Given the description of an element on the screen output the (x, y) to click on. 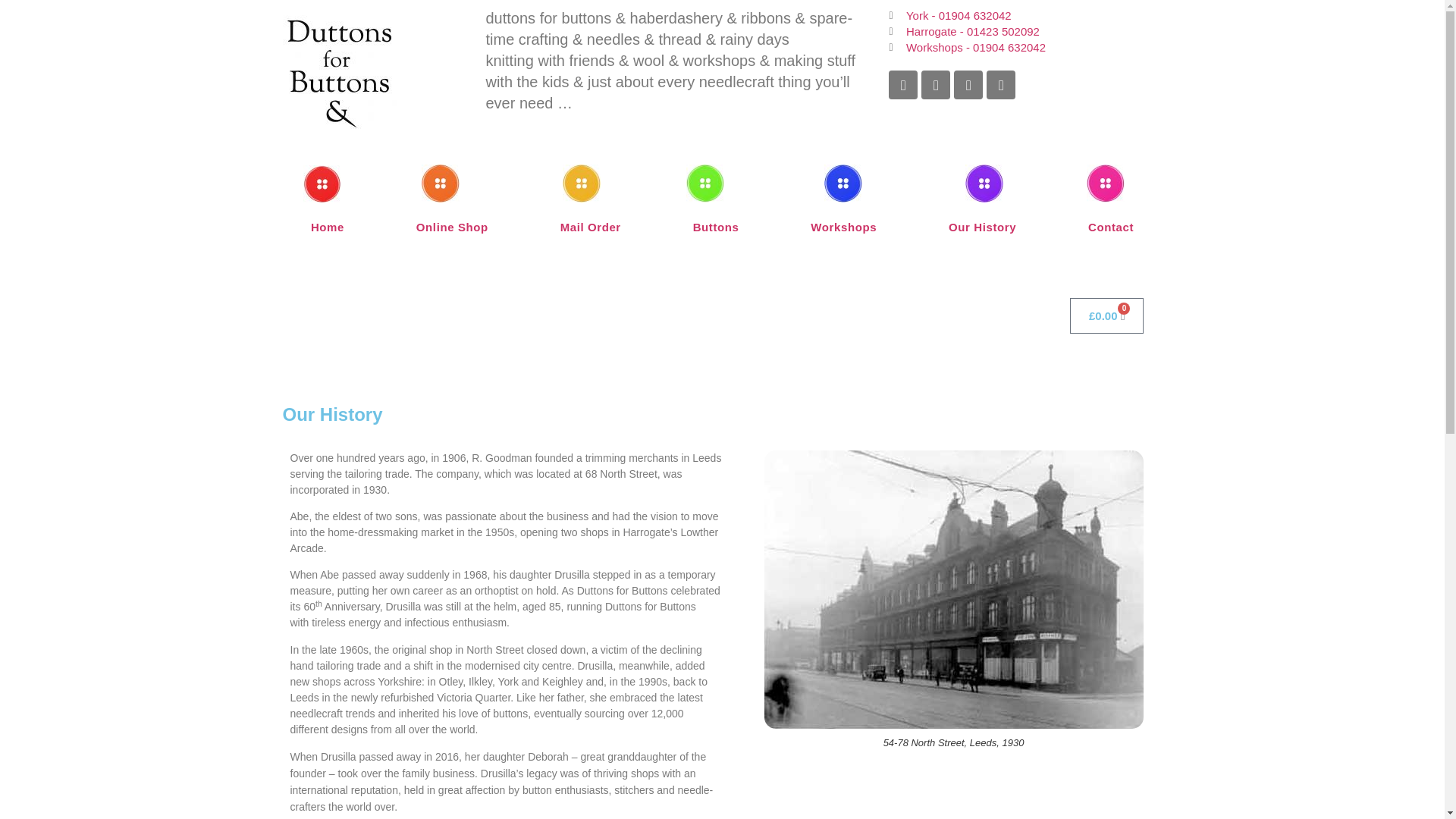
Pink Button (1105, 183)
Green Button (704, 183)
Contact (1111, 226)
Our History (982, 226)
Yellow Button (580, 183)
Orange Button (441, 183)
Home (327, 226)
Buttons (715, 226)
Workshops (843, 226)
York - 01904 632042 (1027, 15)
